Given the description of an element on the screen output the (x, y) to click on. 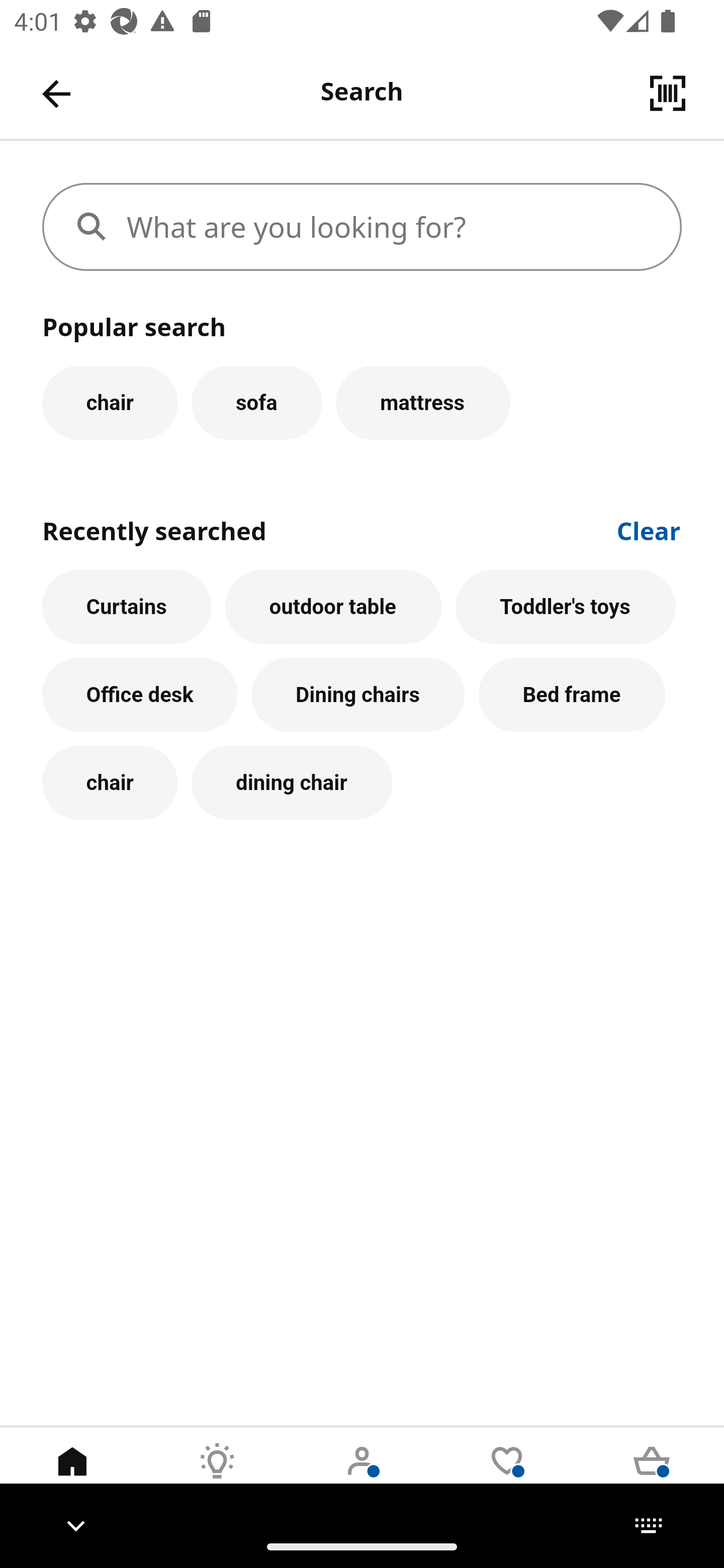
chair (109, 402)
sofa (256, 402)
mattress (423, 402)
Clear (649, 528)
Curtains (126, 606)
outdoor table (333, 606)
Toddler's toys (565, 606)
Office desk (139, 695)
Dining chairs (357, 695)
Bed frame (571, 695)
chair (109, 783)
dining chair (291, 783)
Home
Tab 1 of 5 (72, 1476)
Inspirations
Tab 2 of 5 (216, 1476)
User
Tab 3 of 5 (361, 1476)
Wishlist
Tab 4 of 5 (506, 1476)
Cart
Tab 5 of 5 (651, 1476)
